Given the description of an element on the screen output the (x, y) to click on. 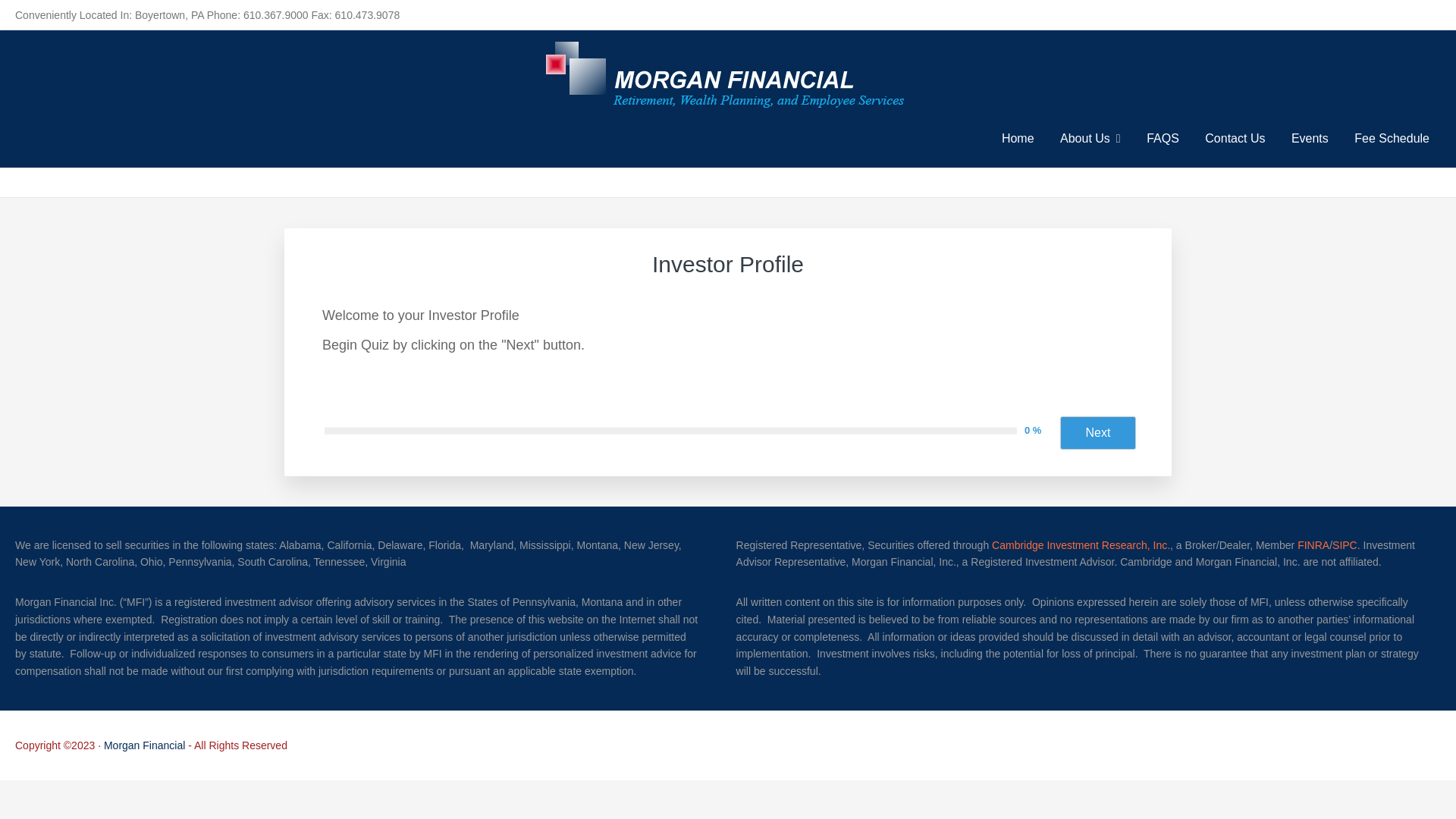
MORGAN FINANCIAL (166, 116)
FAQS (1163, 138)
Events (1309, 138)
Home (1017, 138)
Morgan Financial (143, 745)
About Us (1090, 138)
SIPC (1344, 544)
Submit (37, 16)
FINRA (1313, 544)
Next (1097, 431)
Cambridge Investment Research, Inc. (1080, 544)
Contact Us (1234, 138)
Fee Schedule (1391, 138)
